Given the description of an element on the screen output the (x, y) to click on. 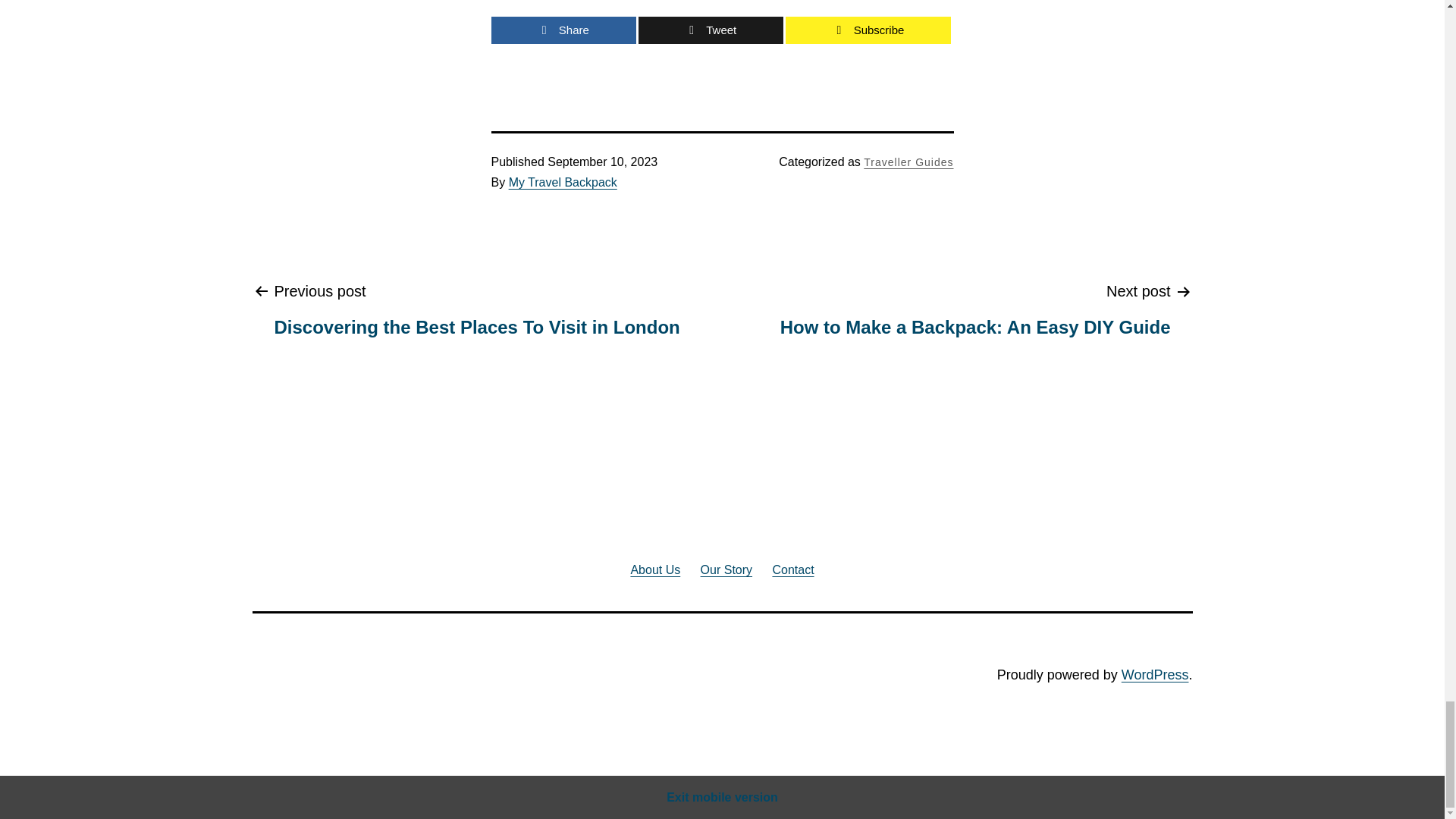
Subscribe (868, 30)
Share (975, 308)
My Travel Backpack (564, 30)
Tweet (562, 181)
About Us (711, 30)
WordPress (655, 569)
Traveller Guides (1155, 674)
Contact (908, 161)
Our Story (792, 569)
